Given the description of an element on the screen output the (x, y) to click on. 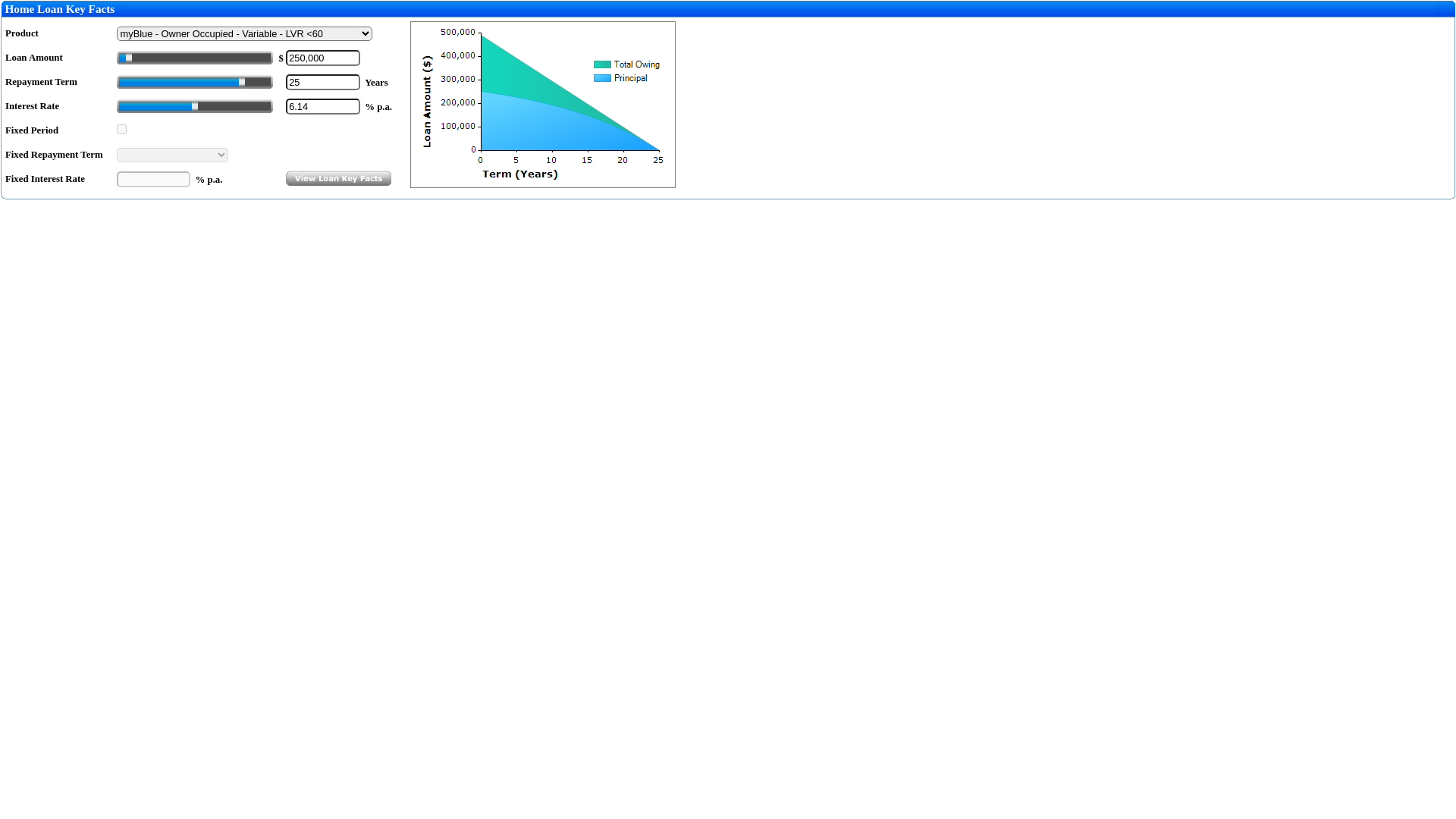
ReCalculate Element type: text (33, 7)
on Element type: text (121, 129)
PDF Report Element type: text (32, 7)
